Given the description of an element on the screen output the (x, y) to click on. 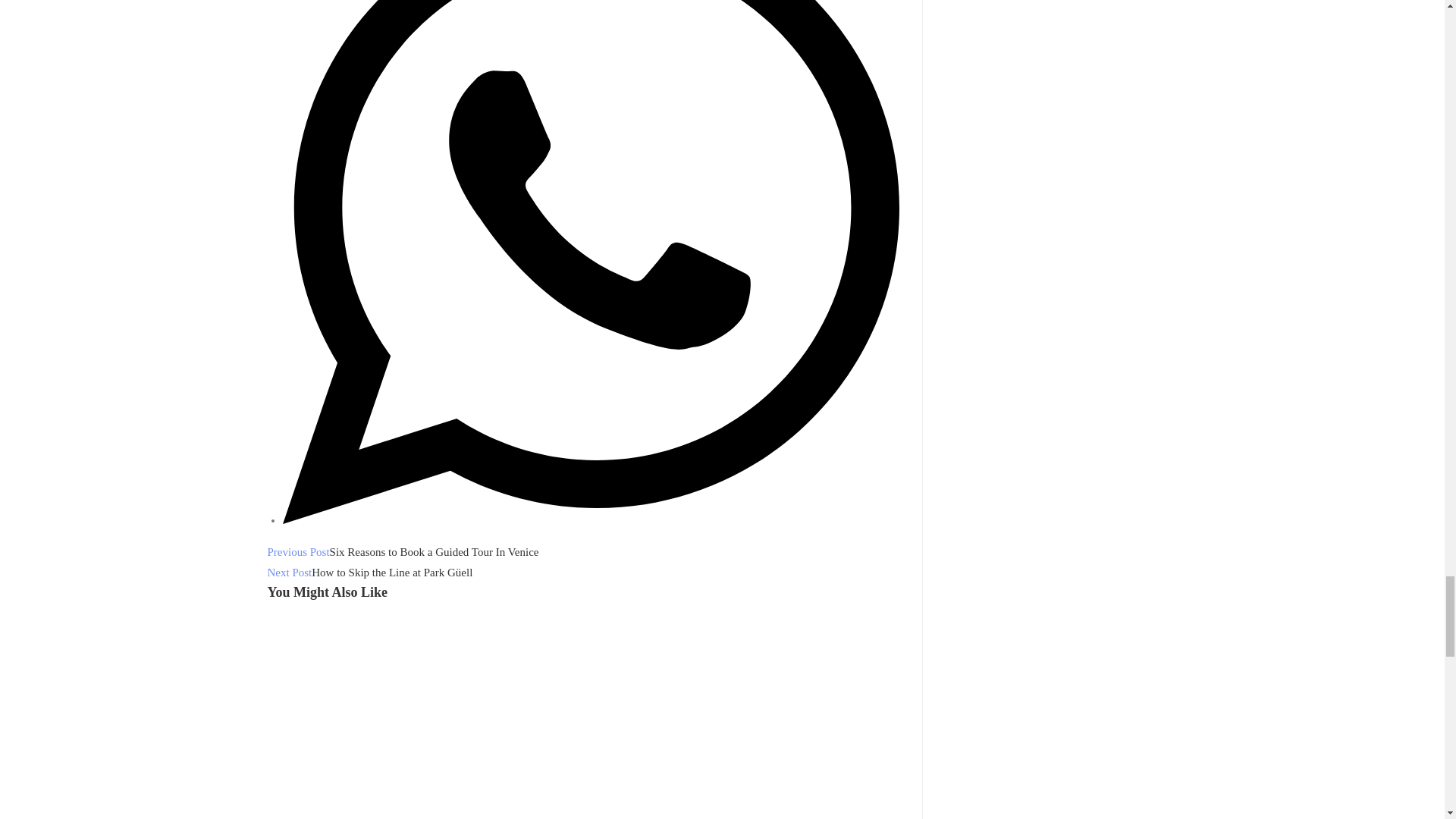
Share on WhatsApp (590, 520)
